Given the description of an element on the screen output the (x, y) to click on. 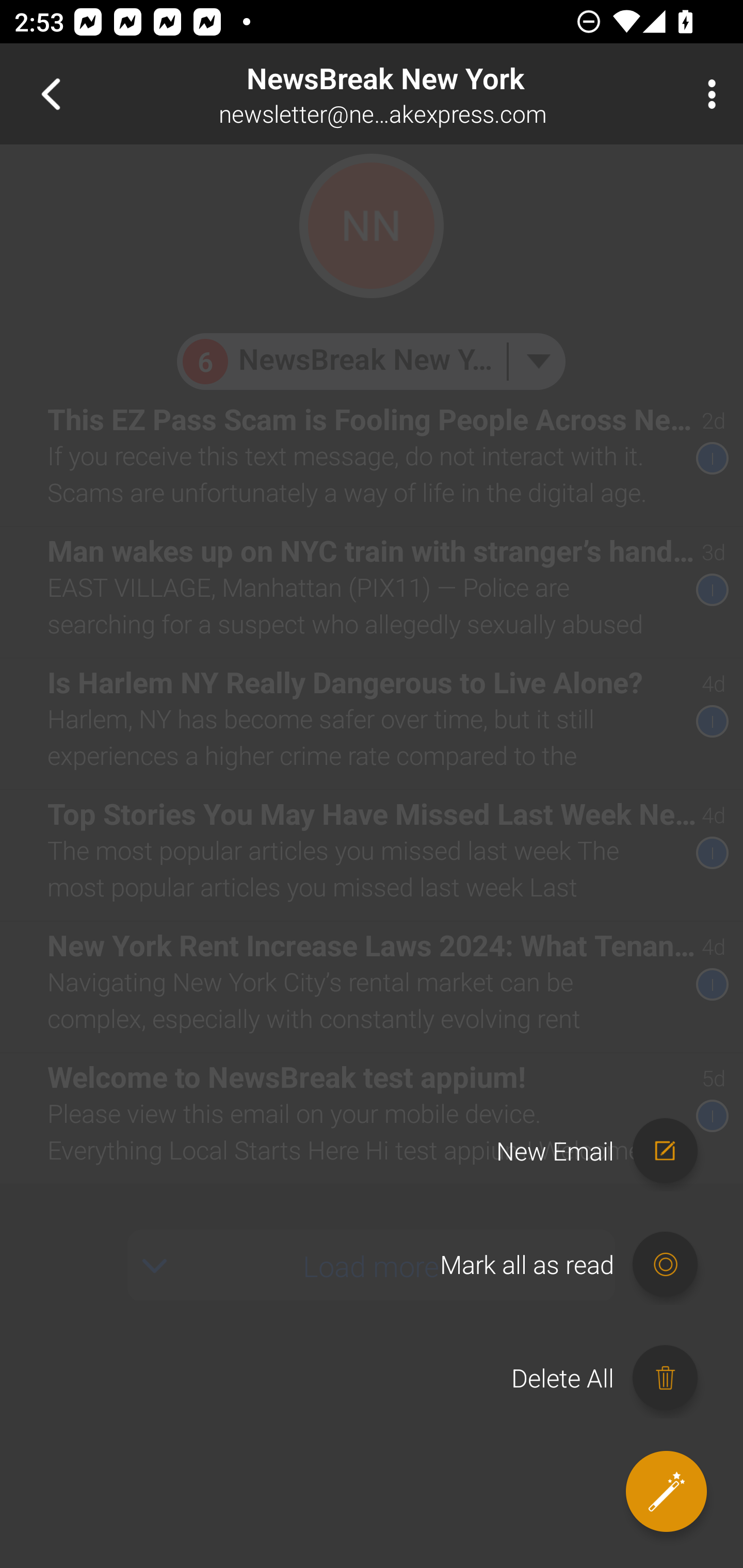
Navigate up (50, 93)
NewsBreak New York newsletter@newsbreakexpress.com (436, 93)
More Options (706, 93)
New Email (606, 1150)
Mark all as read (577, 1264)
Delete All (613, 1378)
